Given the description of an element on the screen output the (x, y) to click on. 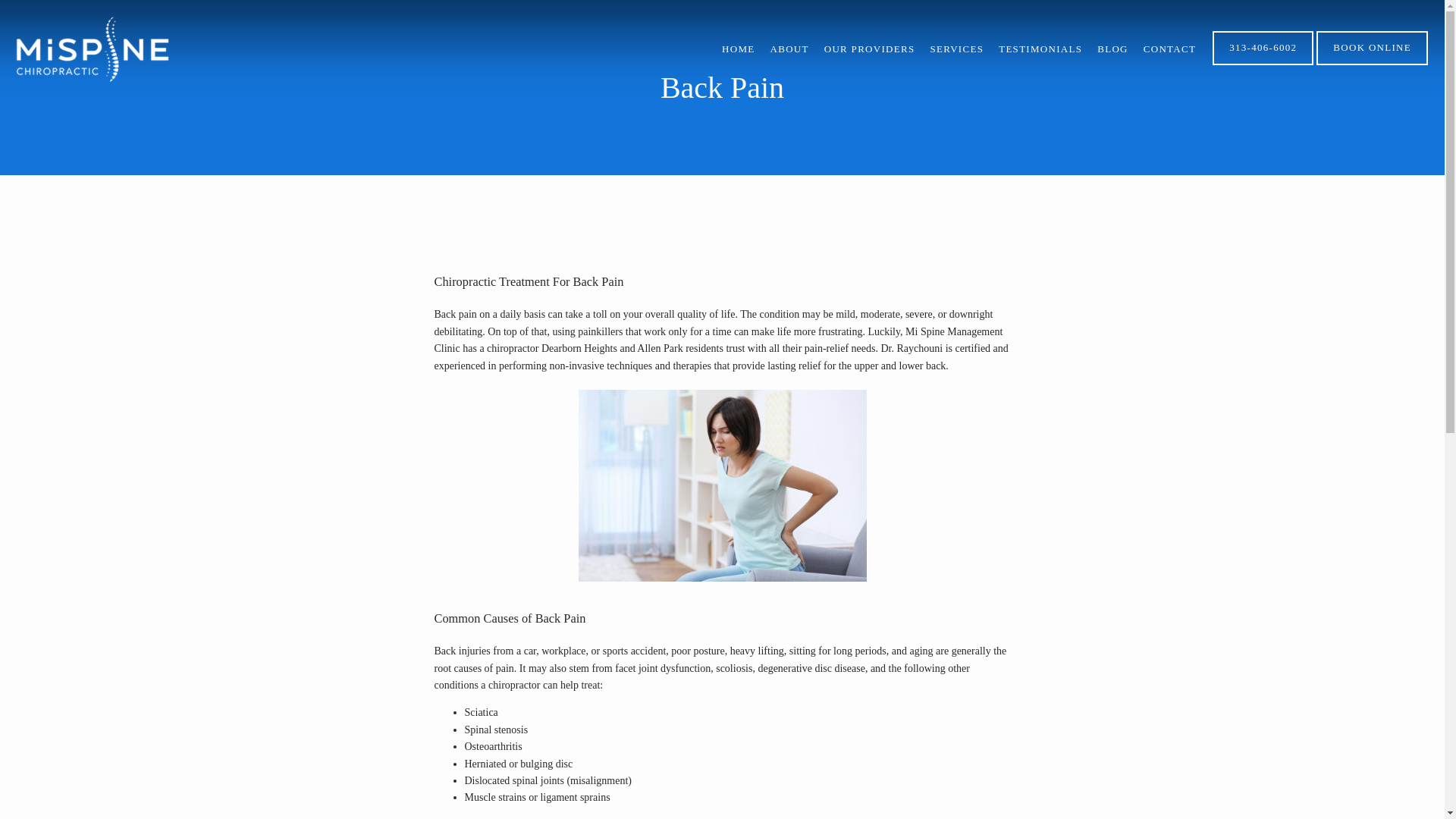
ABOUT (789, 48)
CONTACT (1168, 48)
SERVICES (957, 48)
BLOG (1112, 48)
HOME (738, 48)
TESTIMONIALS (1039, 48)
BOOK ONLINE (1371, 63)
313-406-6002 (1262, 63)
OUR PROVIDERS (869, 48)
